Given the description of an element on the screen output the (x, y) to click on. 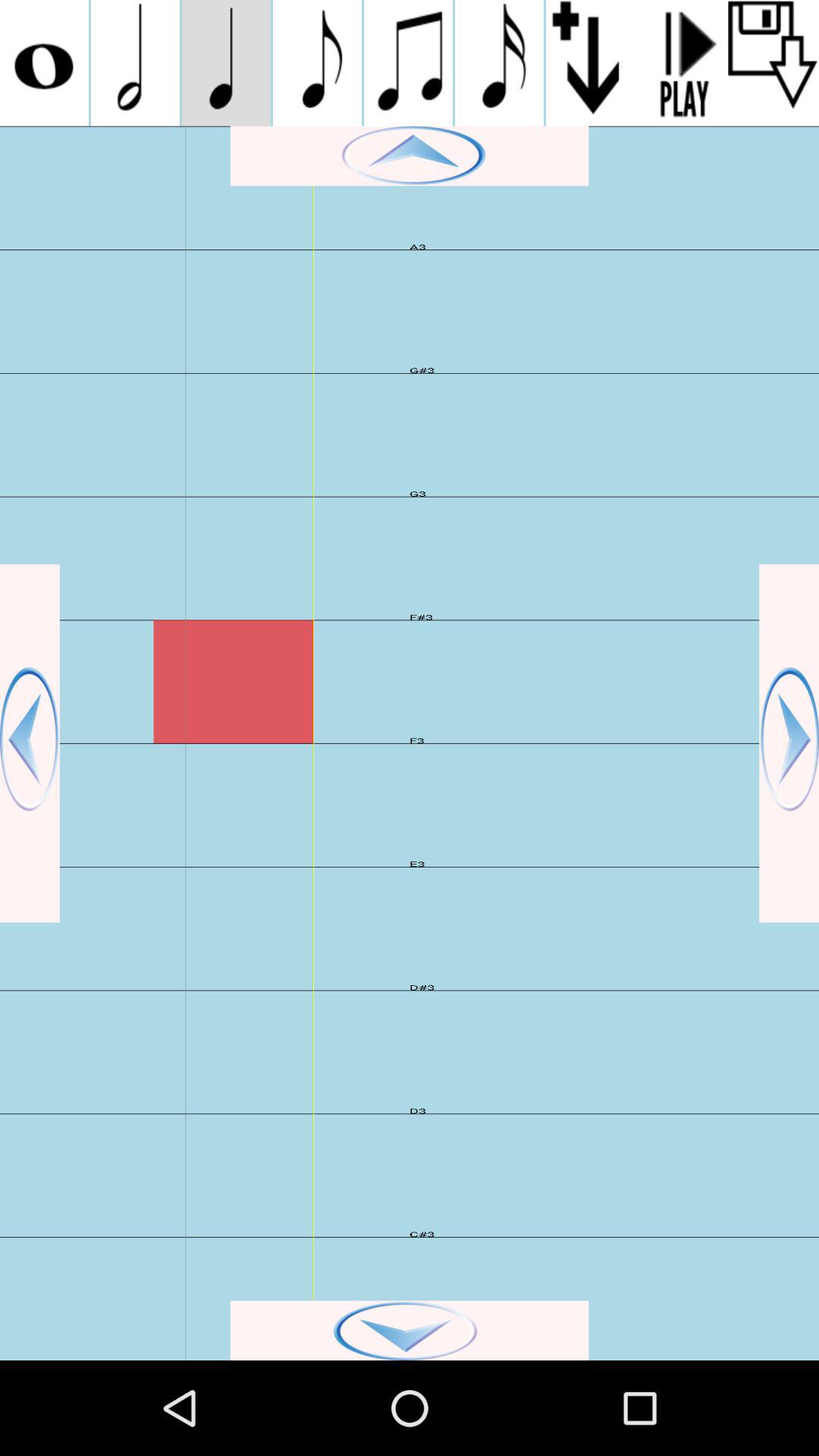
add half note (135, 63)
